Given the description of an element on the screen output the (x, y) to click on. 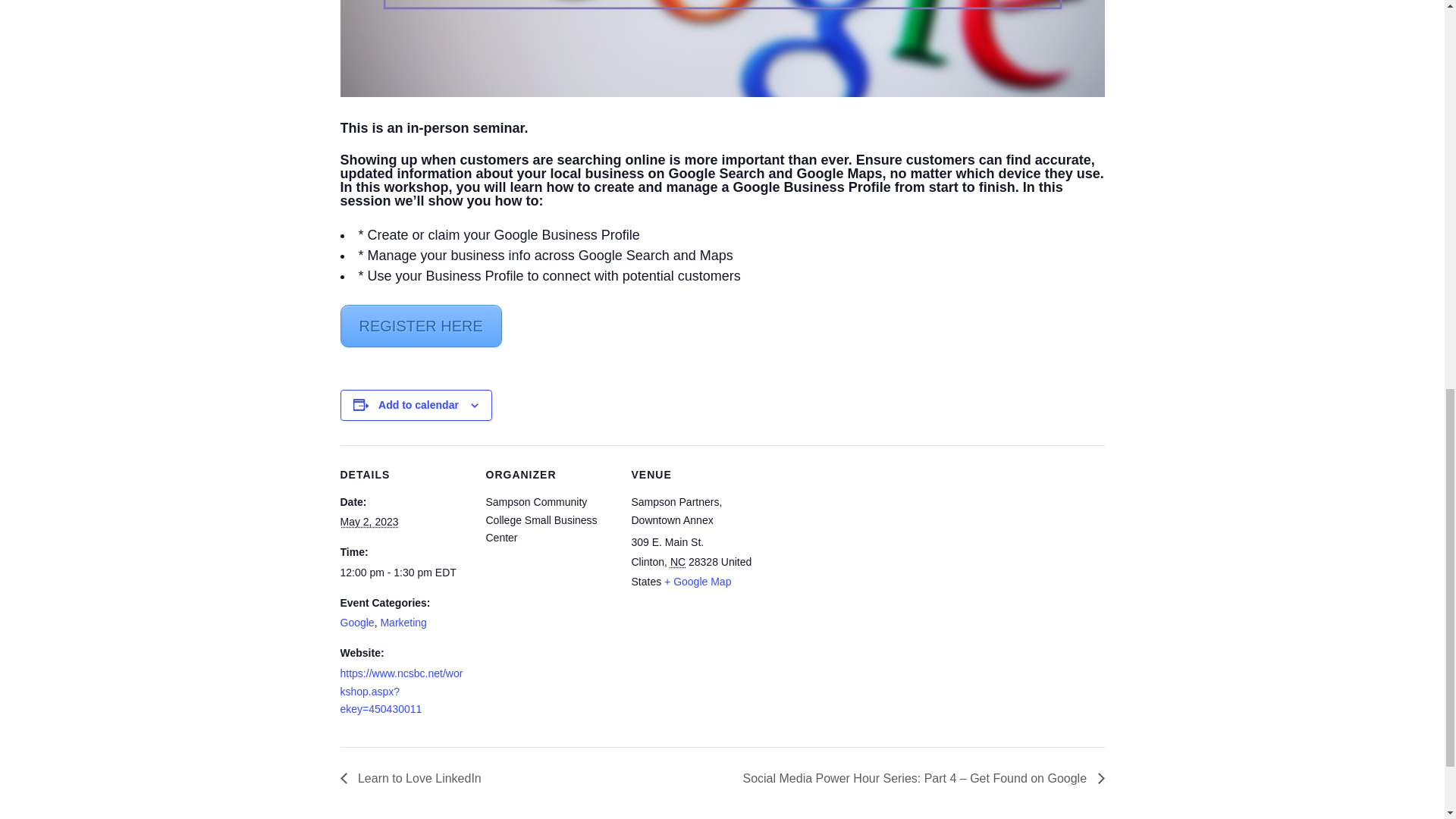
2023-05-02 (403, 573)
REGISTER HERE (419, 325)
Add to calendar (418, 404)
Marketing (403, 622)
Google (356, 622)
North Carolina (677, 562)
Learn to Love LinkedIn (414, 778)
2023-05-02 (368, 521)
Click to view a Google Map (696, 581)
